Given the description of an element on the screen output the (x, y) to click on. 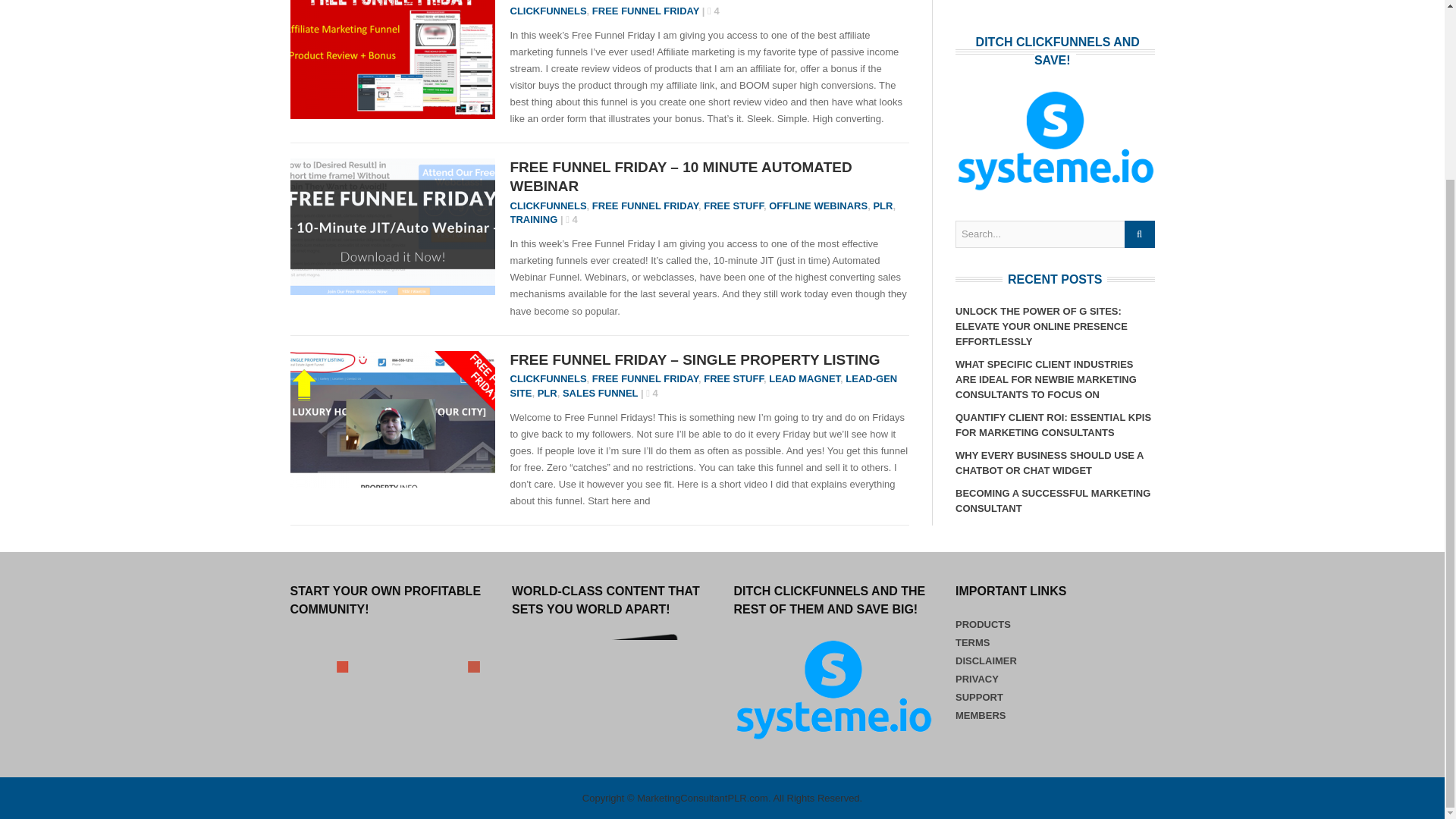
4 (652, 392)
PLR (547, 392)
OFFLINE WEBINARS (817, 205)
FREE FUNNEL FRIDAY (645, 10)
LEAD-GEN SITE (702, 385)
FREE STUFF (732, 205)
Start Your Own Profitable Community! (389, 689)
FREE FUNNEL FRIDAY (645, 378)
4 (572, 219)
